Given the description of an element on the screen output the (x, y) to click on. 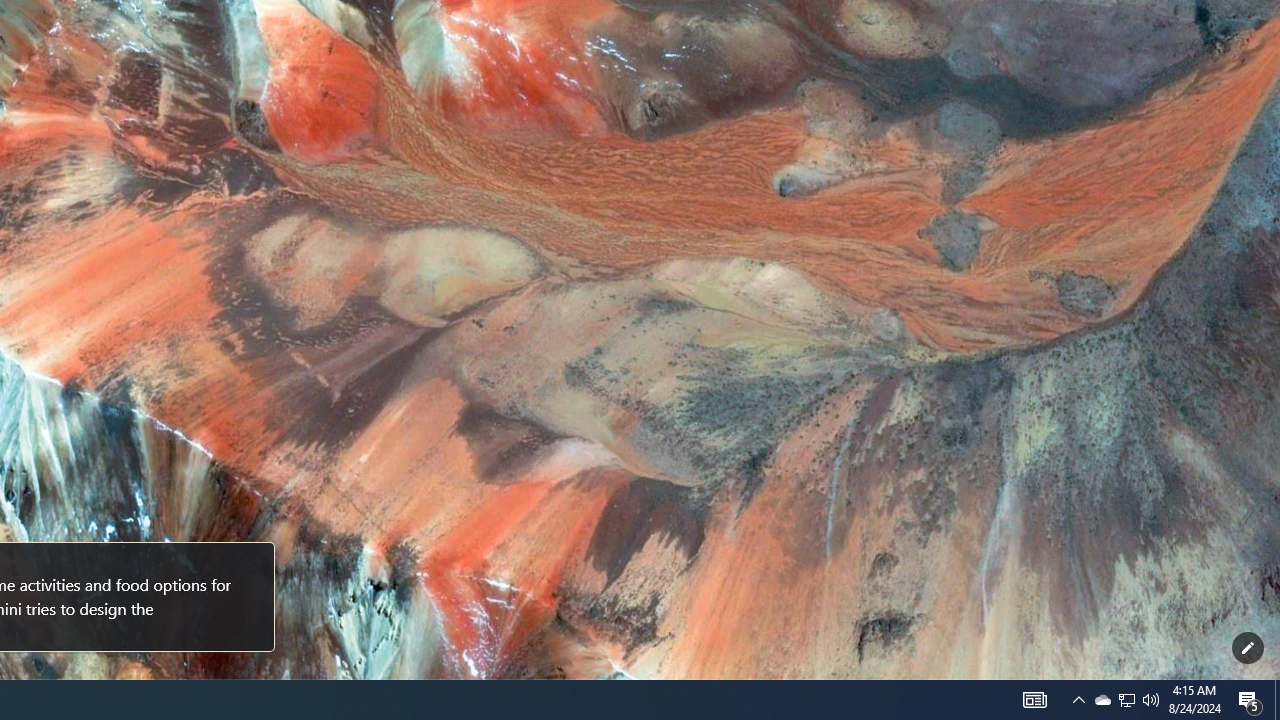
Customize this page (1247, 647)
